Given the description of an element on the screen output the (x, y) to click on. 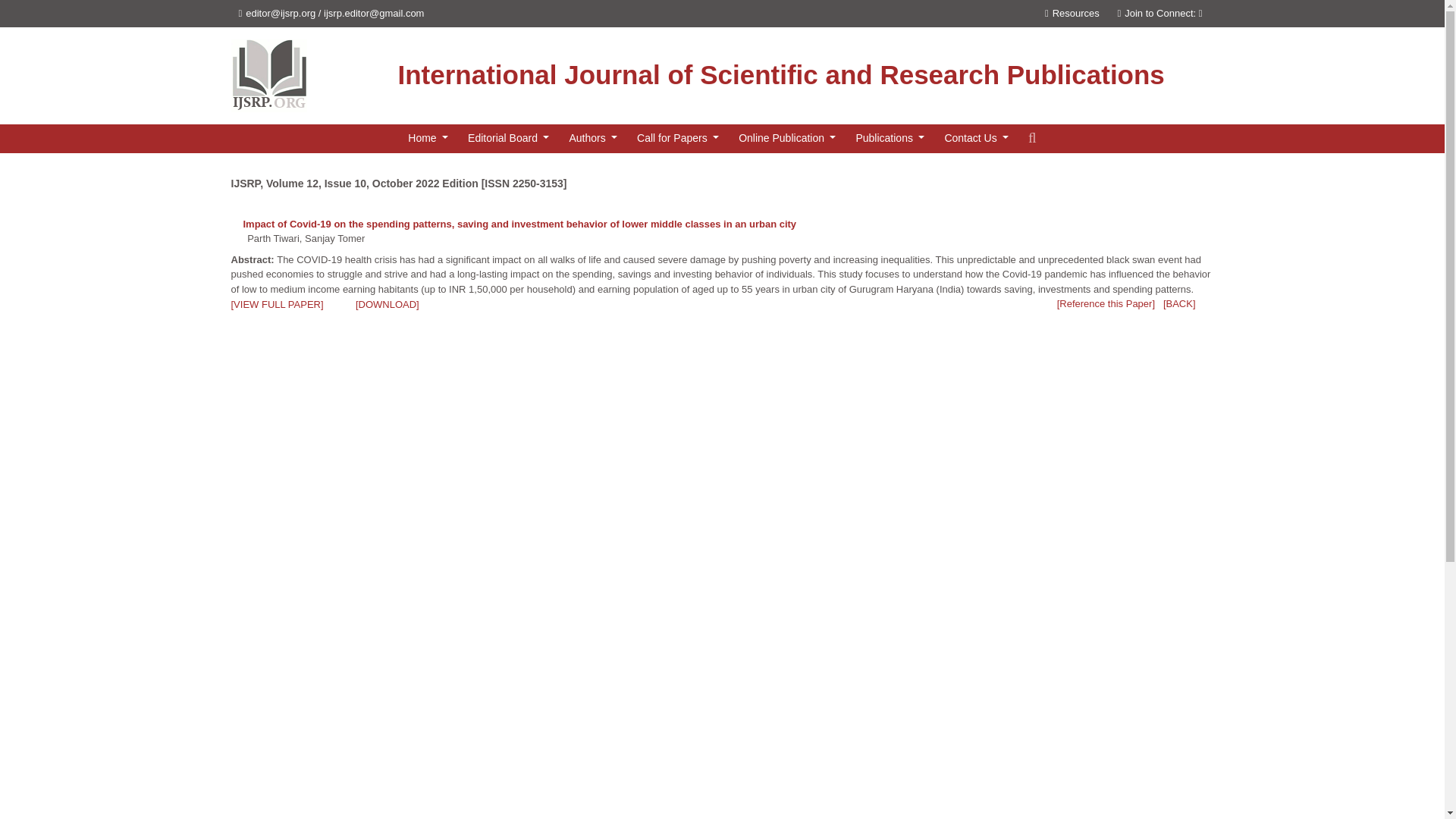
Join to Connect: (1164, 12)
Home (427, 138)
Call for Papers (677, 138)
Online Publication (786, 138)
Editorial Board (507, 138)
Authors (592, 138)
Resources (1072, 12)
Publications (889, 138)
